Given the description of an element on the screen output the (x, y) to click on. 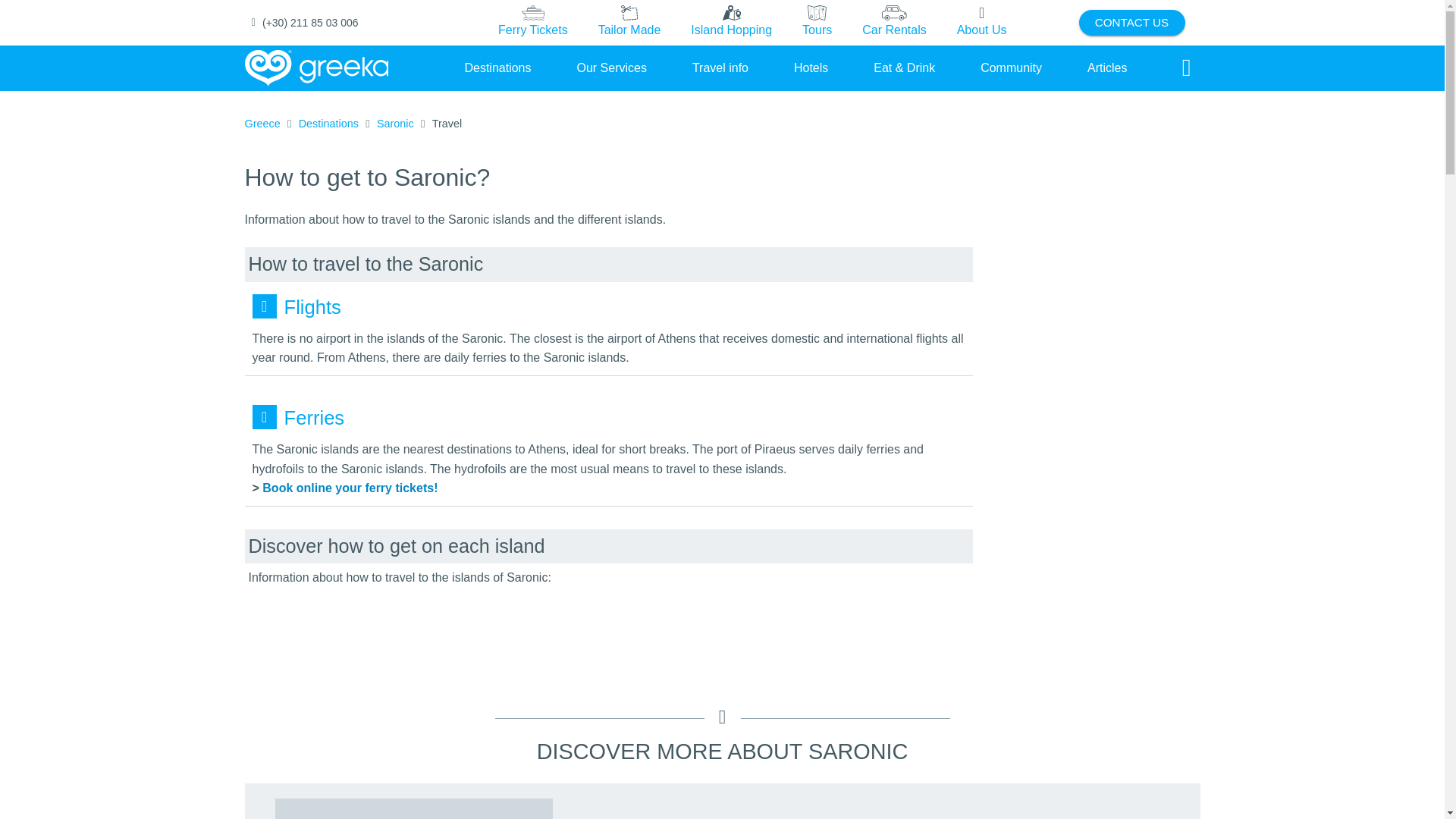
About Us (981, 22)
Tours (816, 22)
Ferry tickets (533, 22)
Destinations (497, 67)
Blog (1106, 67)
Island Hopping (730, 22)
About Us (982, 22)
Greece by Greeka (316, 67)
Travel info (720, 67)
Tailor made services (630, 22)
Search (1185, 67)
Hotels (810, 67)
Tailor Made (629, 22)
Tours (817, 22)
Travel (446, 123)
